Given the description of an element on the screen output the (x, y) to click on. 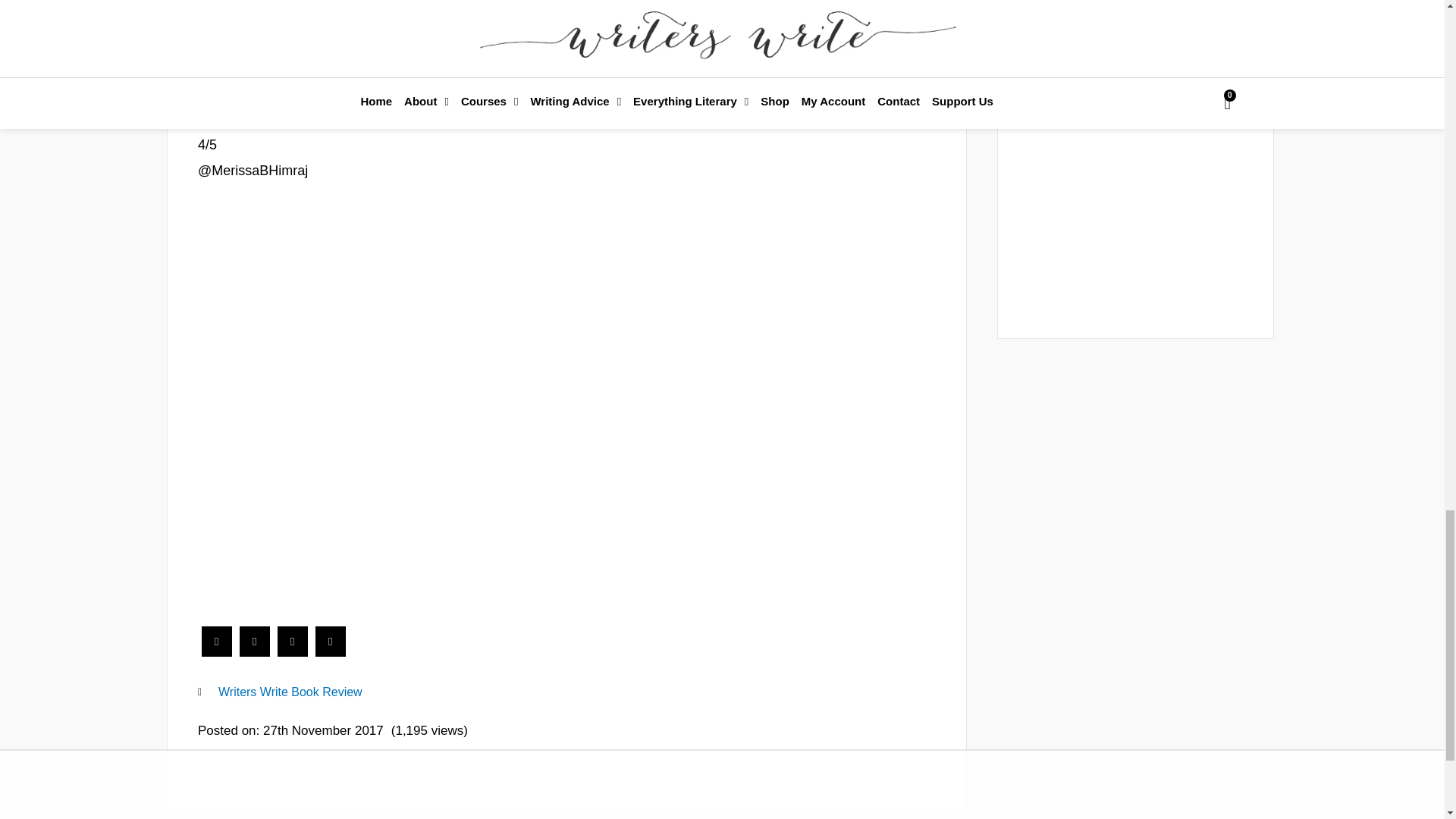
Share to LinkedIn (292, 652)
Share on Pinterest (330, 652)
Share on Twitter (254, 652)
Share on Facebook (216, 652)
